Given the description of an element on the screen output the (x, y) to click on. 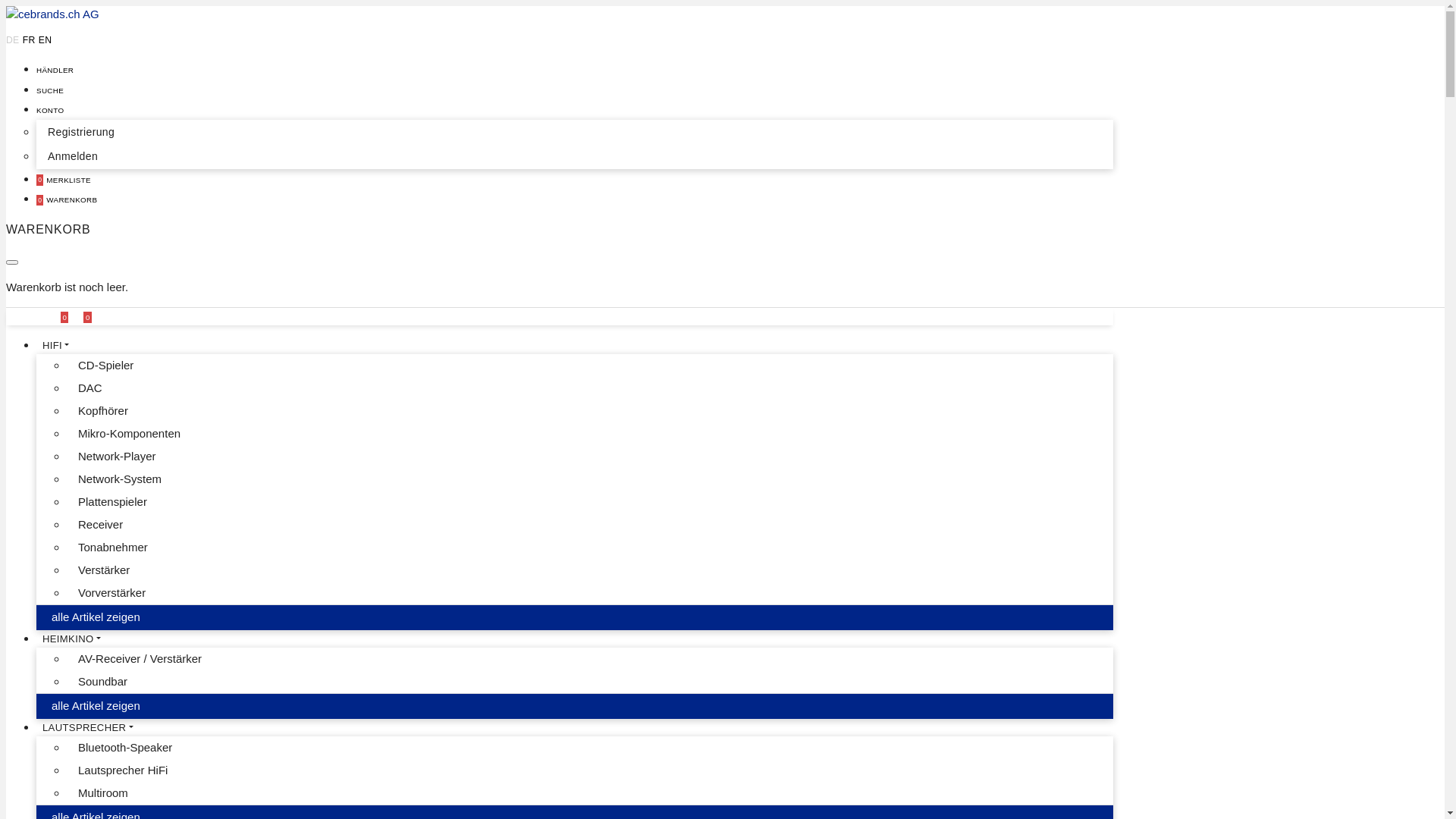
SUCHE Element type: text (49, 88)
Tonabnehmer Element type: text (153, 547)
HEIMKINO Element type: text (71, 637)
CD-Spieler Element type: text (153, 365)
FR Element type: text (28, 39)
Bluetooth-Speaker Element type: text (153, 747)
Plattenspieler Element type: text (153, 501)
DE Element type: text (12, 39)
Network-Player Element type: text (153, 456)
alle Artikel zeigen Element type: text (574, 705)
DAC Element type: text (153, 387)
alle Artikel zeigen Element type: text (574, 617)
cebrands.ch AG Element type: hover (52, 14)
HIFI Element type: text (55, 345)
Soundbar Element type: text (153, 681)
Registrierung Element type: text (574, 131)
LAUTSPRECHER Element type: text (87, 727)
Lautsprecher HiFi Element type: text (153, 770)
Anmelden Element type: text (574, 156)
0 WARENKORB Element type: text (66, 198)
Network-System Element type: text (153, 478)
0 MERKLISTE Element type: text (63, 178)
Multiroom Element type: text (153, 792)
0 Element type: text (65, 315)
Mikro-Komponenten Element type: text (153, 433)
0 Element type: text (87, 315)
EN Element type: text (45, 39)
Receiver Element type: text (153, 524)
KONTO Element type: text (49, 109)
